Given the description of an element on the screen output the (x, y) to click on. 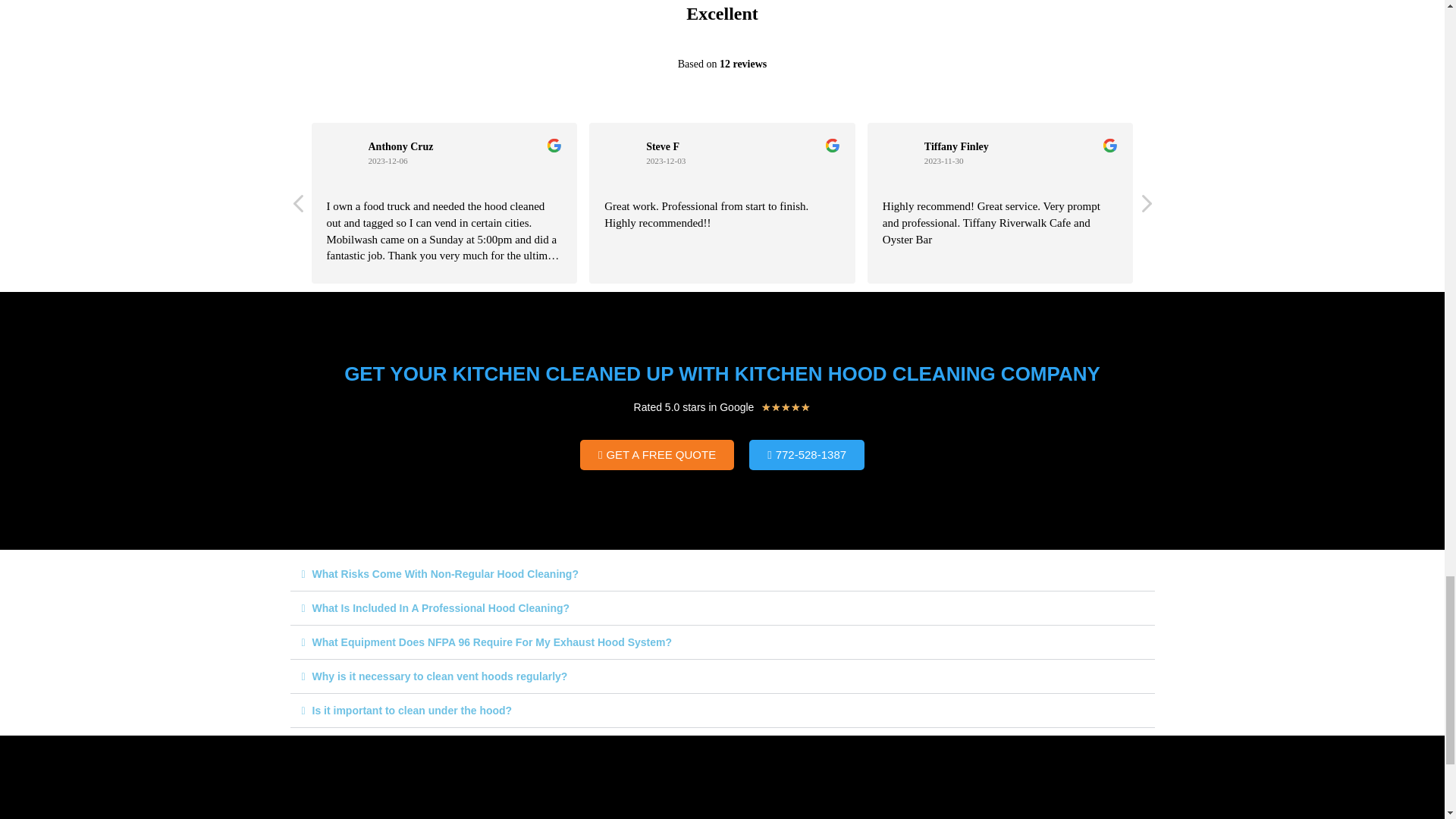
Is it important to clean under the hood? (412, 710)
What Risks Come With Non-Regular Hood Cleaning? (445, 573)
Why is it necessary to clean vent hoods regularly? (440, 676)
772-528-1387 (806, 454)
logo-mw (721, 793)
What Is Included In A Professional Hood Cleaning? (441, 607)
GET A FREE QUOTE (656, 454)
